Given the description of an element on the screen output the (x, y) to click on. 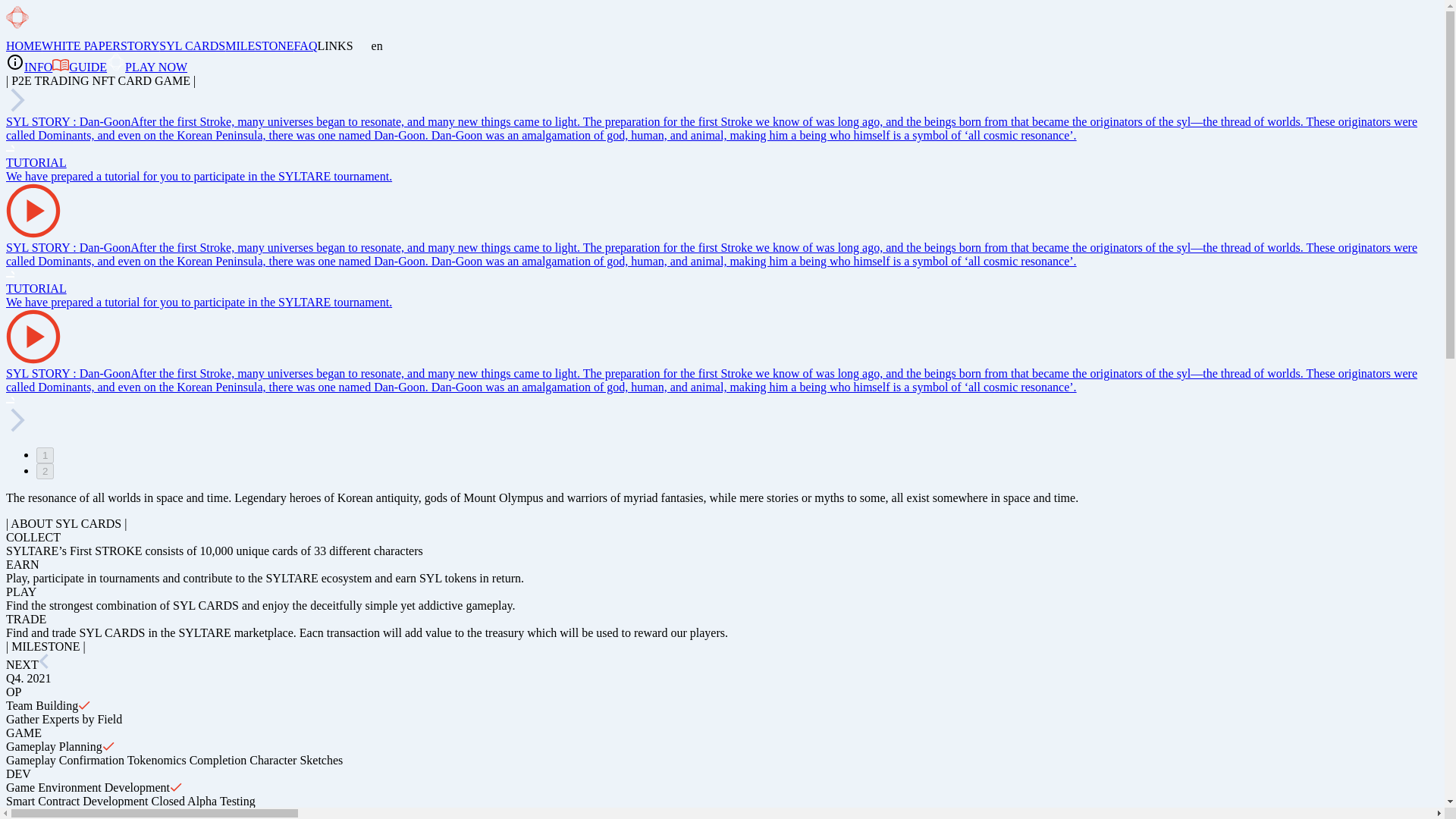
1 (44, 455)
GUIDE (79, 66)
2 (44, 471)
NEXT (26, 664)
HOME (23, 45)
WHITE PAPER (81, 45)
SYL CARDS (191, 45)
PLAY NOW (146, 66)
FAQ (305, 45)
